Given the description of an element on the screen output the (x, y) to click on. 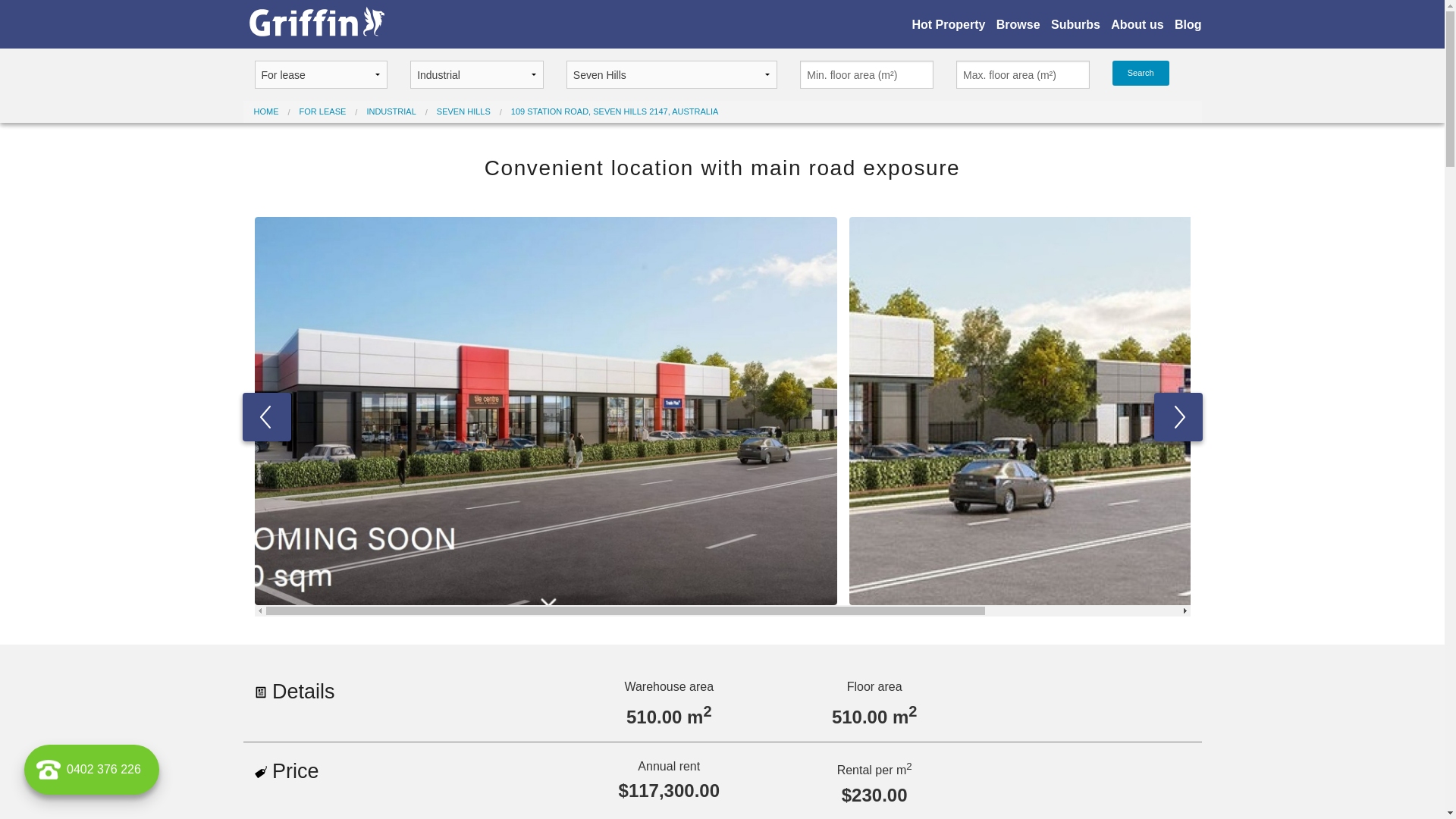
INDUSTRIAL Element type: text (390, 111)
0402 376 226 Element type: text (91, 769)
FOR LEASE Element type: text (322, 111)
Browse Element type: text (1018, 24)
Hot Property Element type: text (948, 24)
SEVEN HILLS Element type: text (463, 111)
109 STATION ROAD, SEVEN HILLS 2147, AUSTRALIA Element type: text (614, 111)
Suburbs Element type: text (1075, 24)
Search Element type: text (1140, 72)
About us Element type: text (1136, 24)
HOME Element type: text (265, 111)
Blog Element type: text (1187, 24)
